Given the description of an element on the screen output the (x, y) to click on. 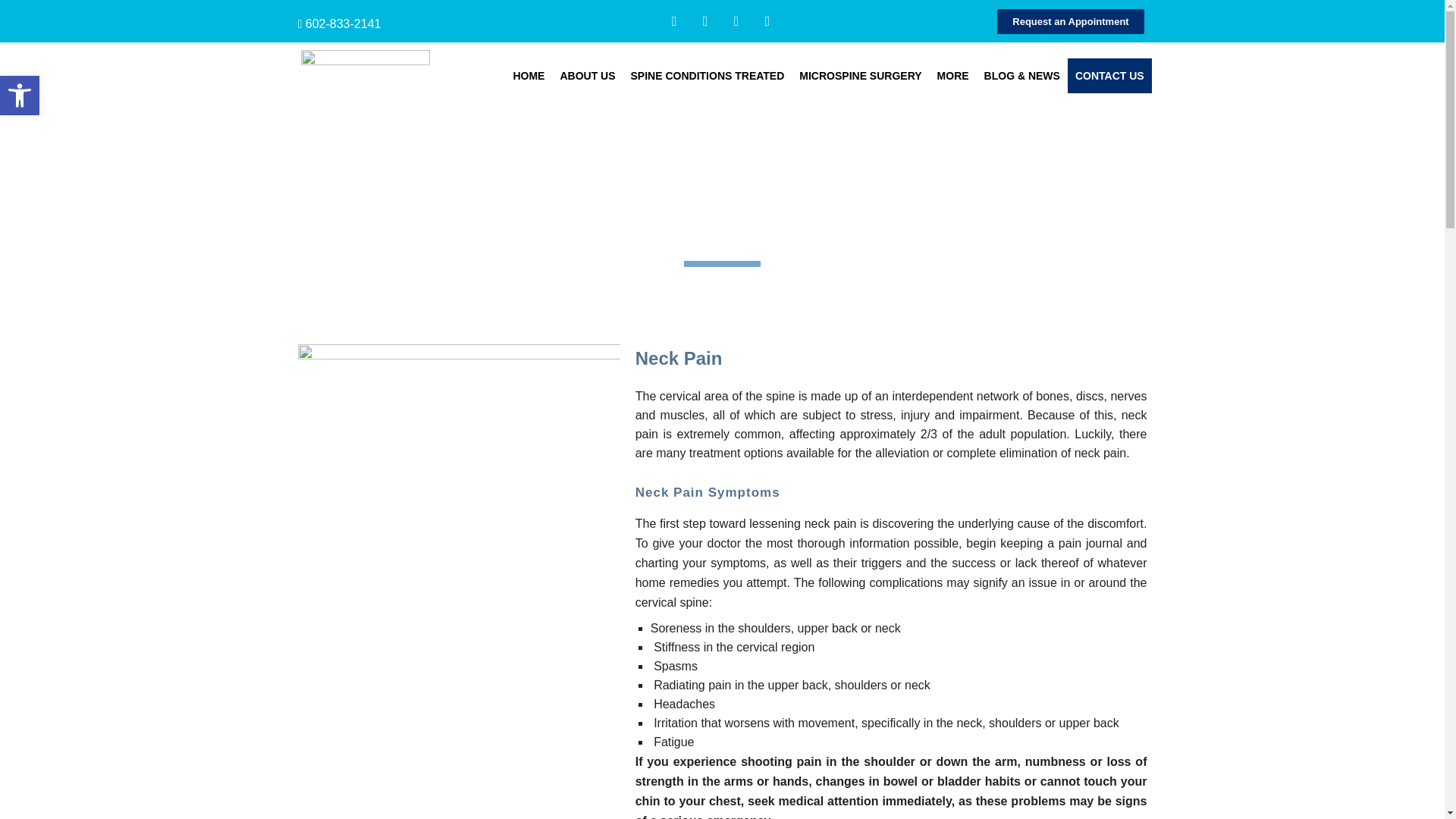
HOME (528, 75)
Accessibility Tools (19, 95)
602-833-2141 (343, 23)
602-833-2141 (343, 23)
SPINE CONDITIONS TREATED (707, 75)
Accessibility Tools (19, 95)
ABOUT US (587, 75)
Request an Appointment (1069, 21)
MICROSPINE SURGERY (860, 75)
